Given the description of an element on the screen output the (x, y) to click on. 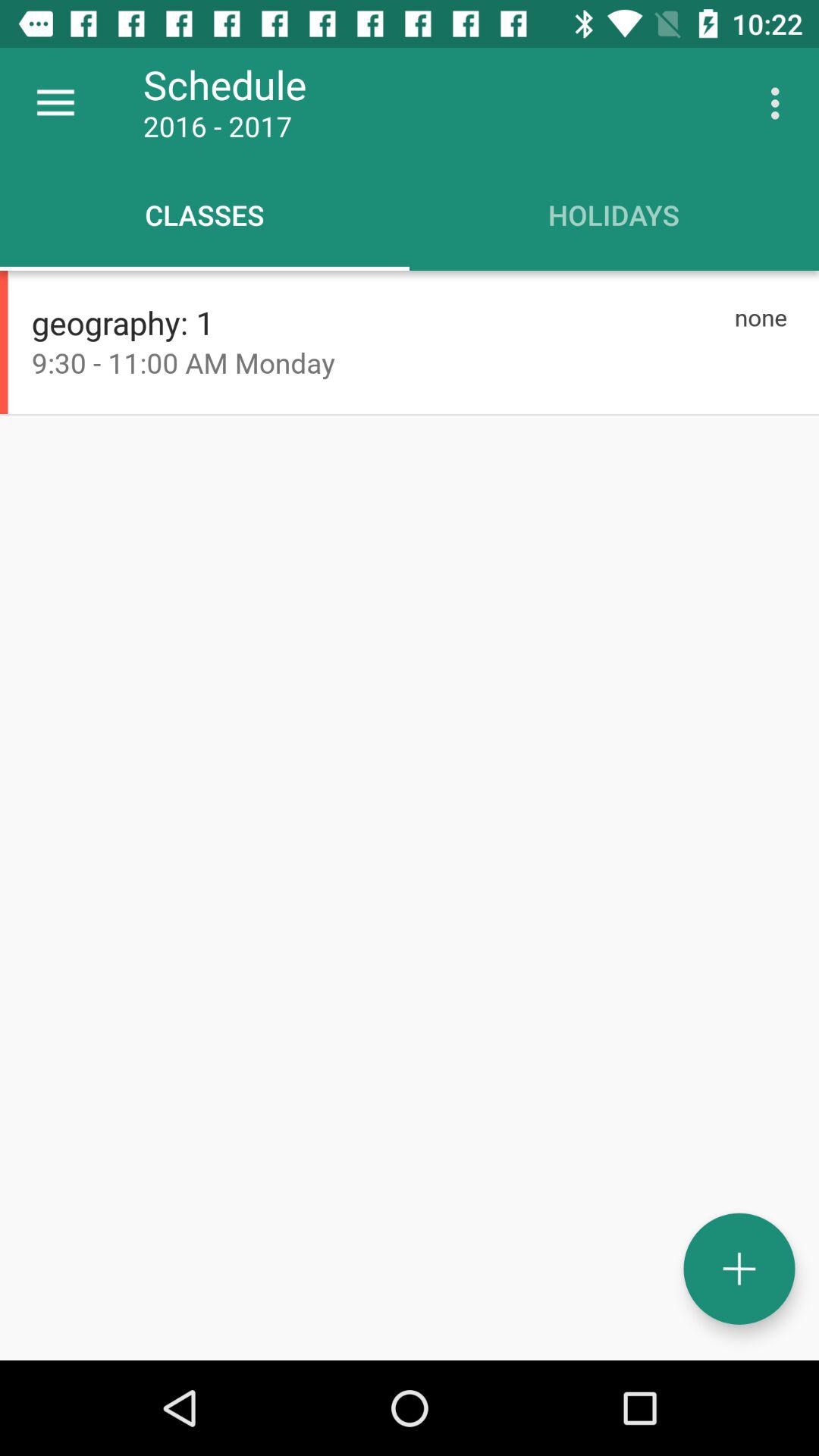
add event option (739, 1268)
